Given the description of an element on the screen output the (x, y) to click on. 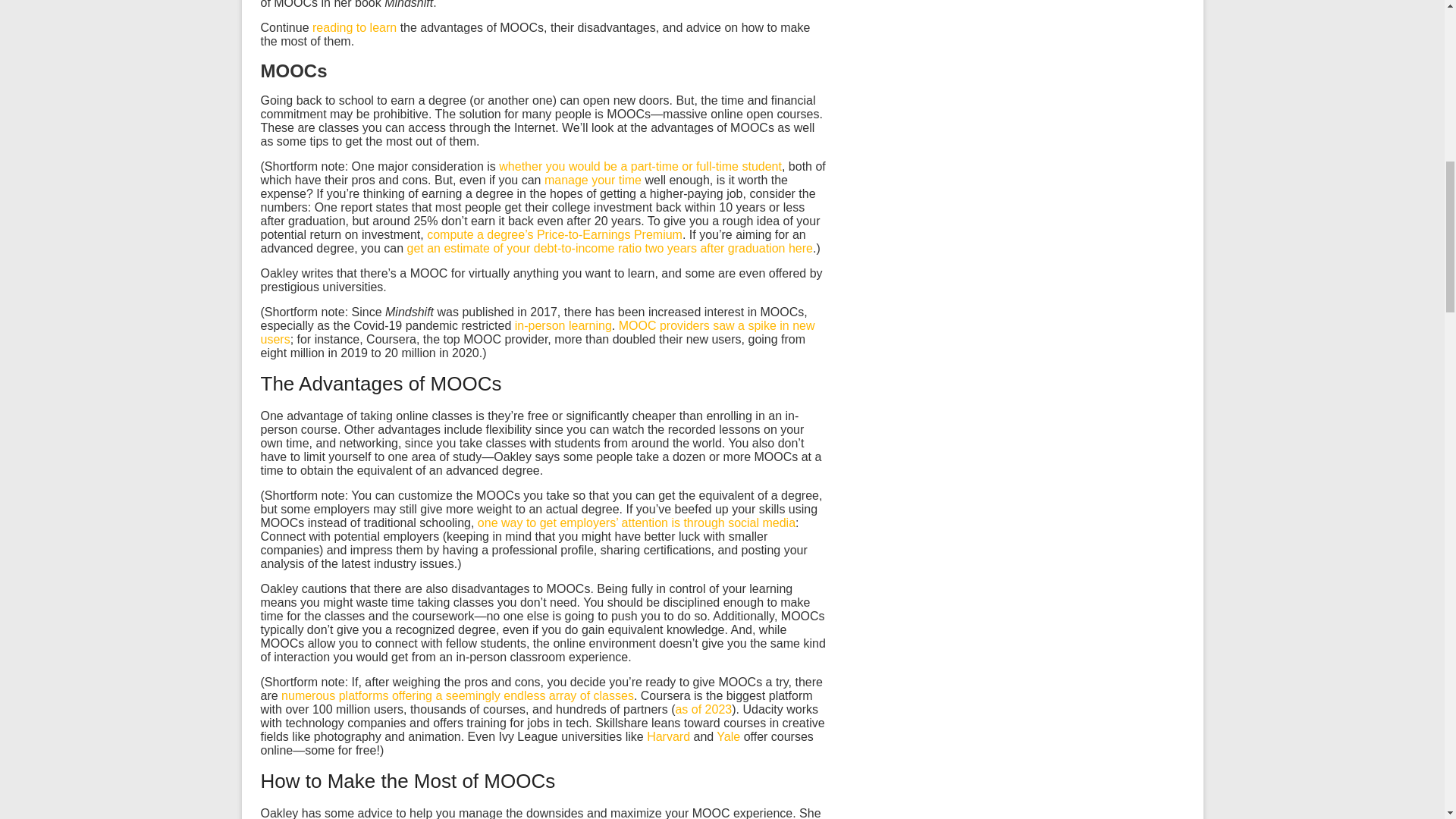
MOOC providers saw a spike in new users (537, 332)
whether you would be a part-time or full-time student (640, 165)
manage your time (593, 179)
reading to learn (354, 27)
Yale (727, 736)
Harvard (668, 736)
in-person learning (563, 325)
as of 2023 (703, 708)
